Given the description of an element on the screen output the (x, y) to click on. 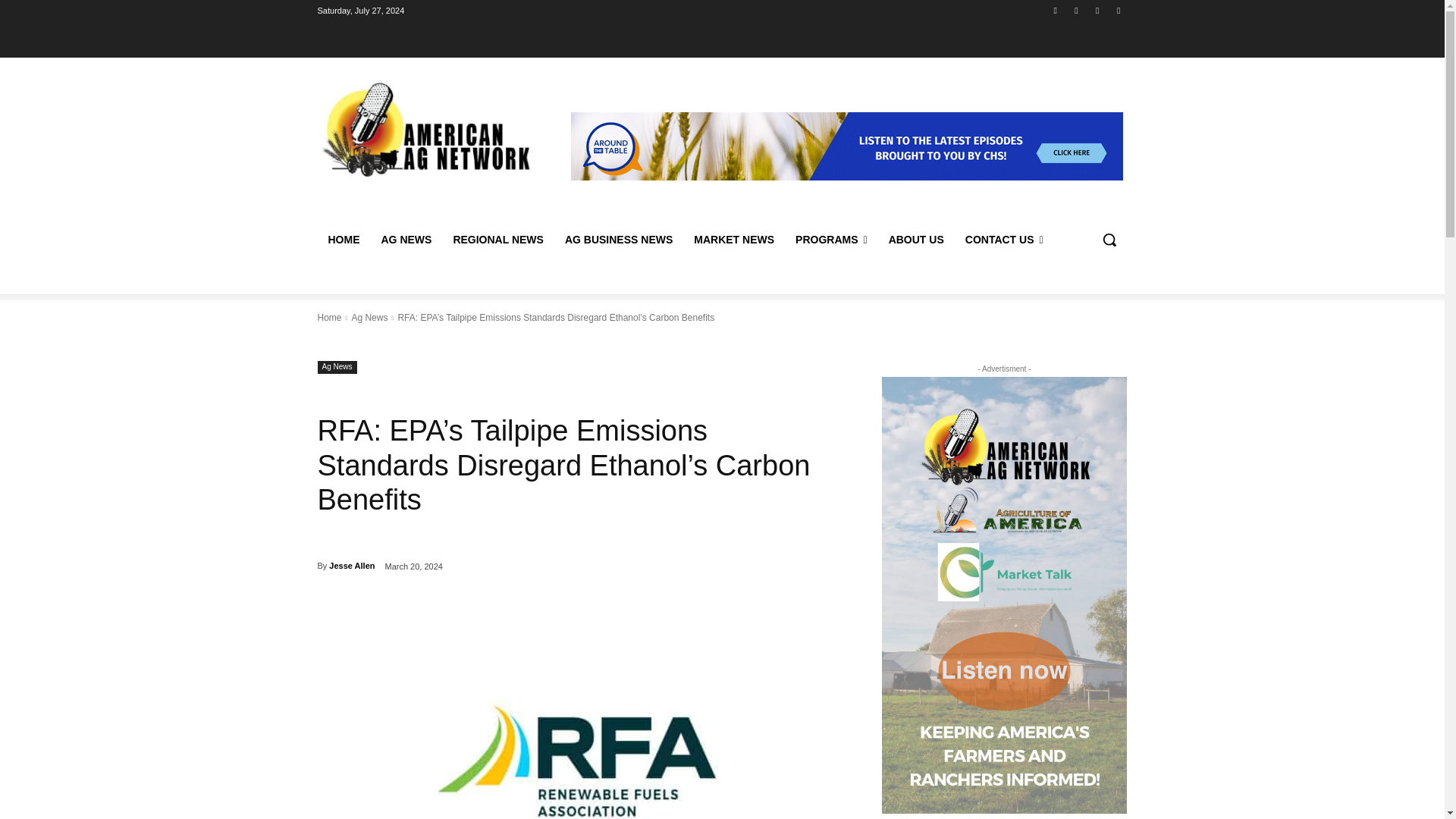
REGIONAL NEWS (498, 239)
AG BUSINESS NEWS (618, 239)
Instagram (1075, 9)
RFA Renewable Fuels Association (580, 716)
CONTACT US (1004, 239)
Twitter (1097, 9)
View all posts in Ag News (368, 317)
Facebook (1055, 9)
MARKET NEWS (733, 239)
PROGRAMS (830, 239)
AG NEWS (405, 239)
ABOUT US (916, 239)
HOME (343, 239)
Youtube (1117, 9)
